Given the description of an element on the screen output the (x, y) to click on. 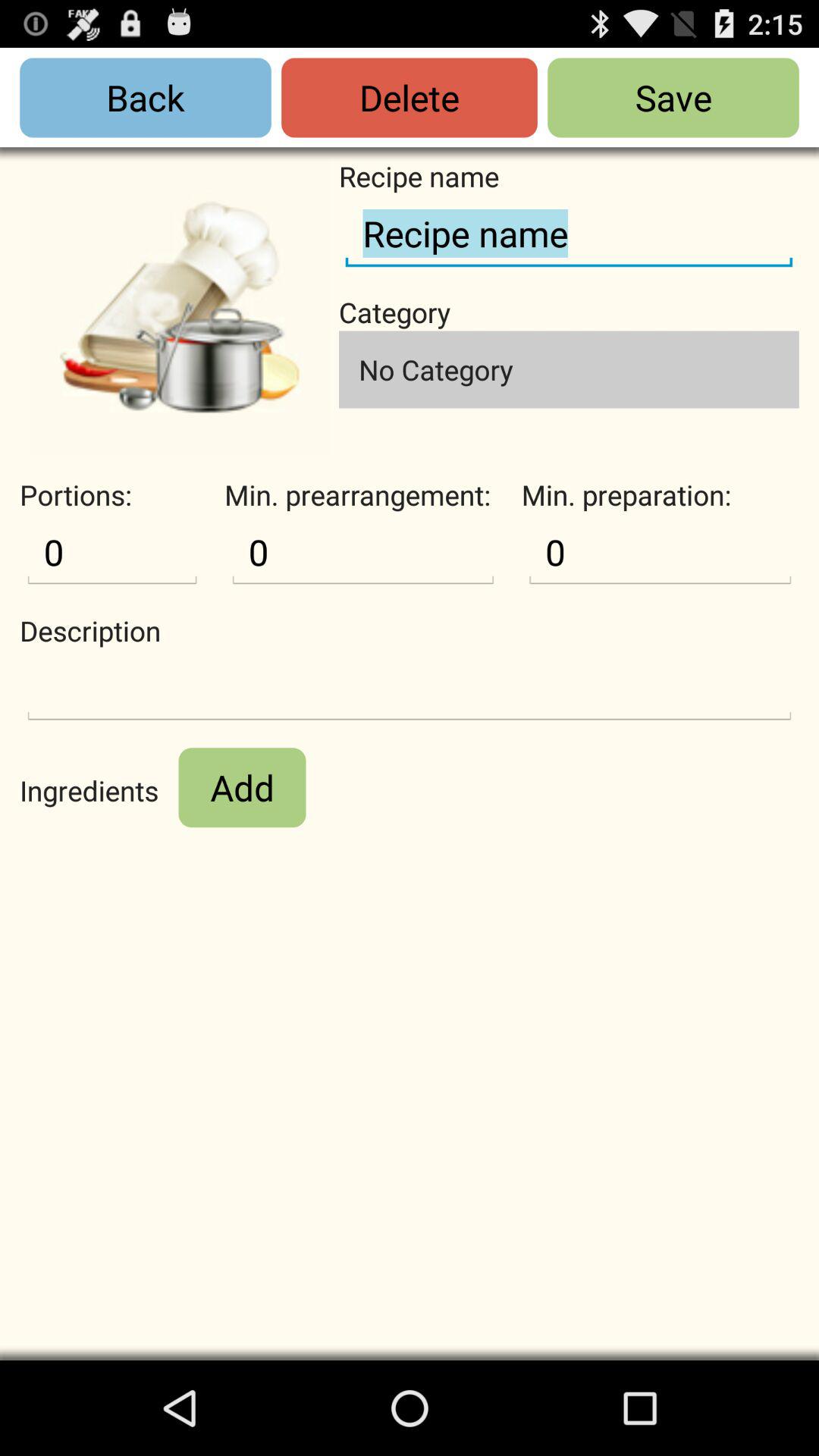
picture (179, 306)
